Given the description of an element on the screen output the (x, y) to click on. 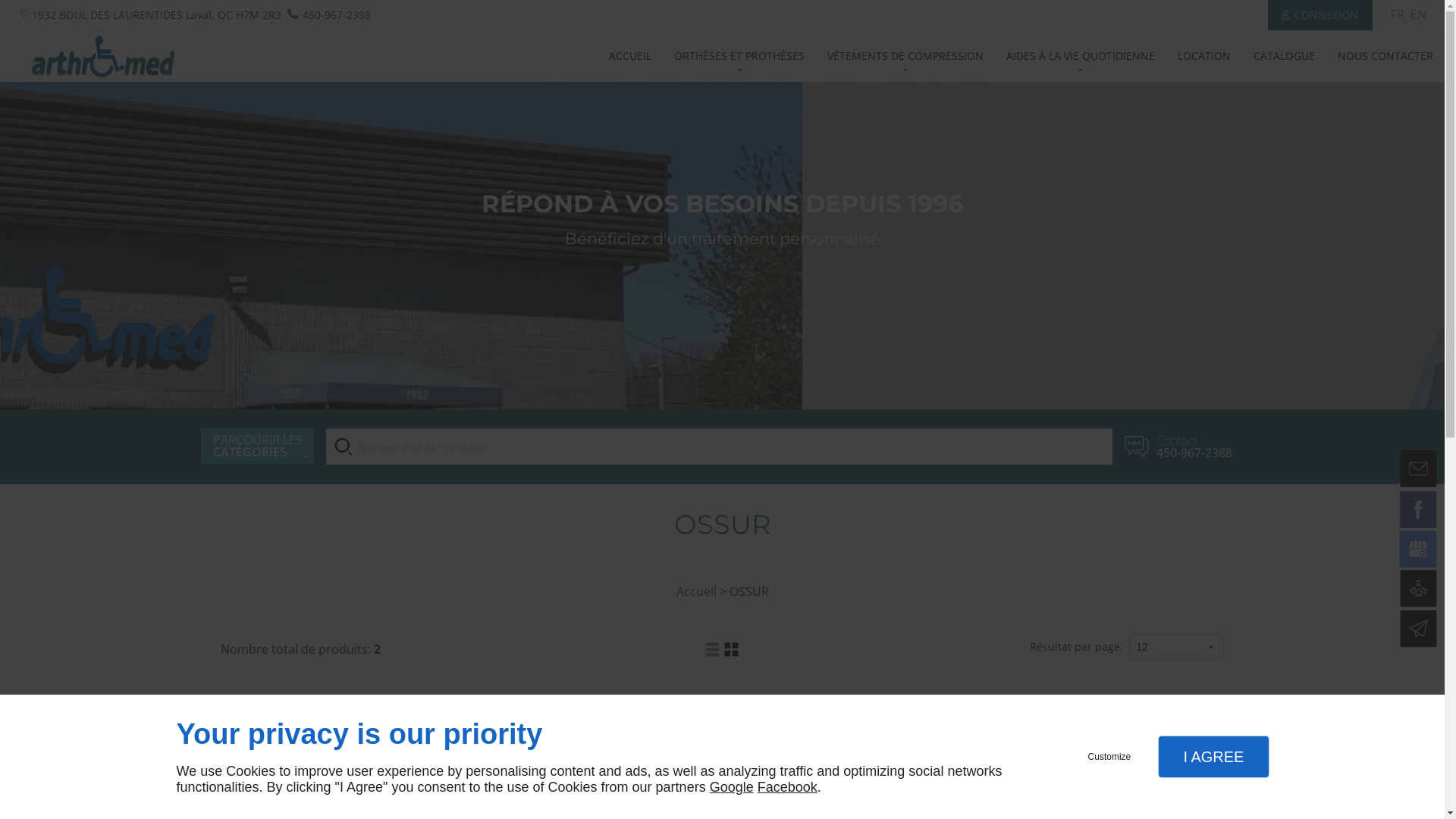
ACCUEIL Element type: text (629, 55)
FR Element type: text (1397, 14)
Google Element type: text (731, 786)
Mybusiness Element type: hover (1419, 550)
Avis Element type: hover (1420, 589)
LOCATION Element type: text (1204, 55)
Facebook Element type: hover (1419, 510)
 CONNEXION Element type: text (1319, 15)
NOUS CONTACTER Element type: text (1385, 55)
450-967-2388 Element type: text (1193, 452)
Nous Contacter Element type: hover (1420, 470)
EN Element type: text (1418, 14)
450-967-2388 Element type: text (334, 14)
Facebook Element type: text (787, 786)
Infolettre Element type: hover (1420, 630)
Accueil Element type: text (696, 591)
CATALOGUE Element type: text (1284, 55)
